Given the description of an element on the screen output the (x, y) to click on. 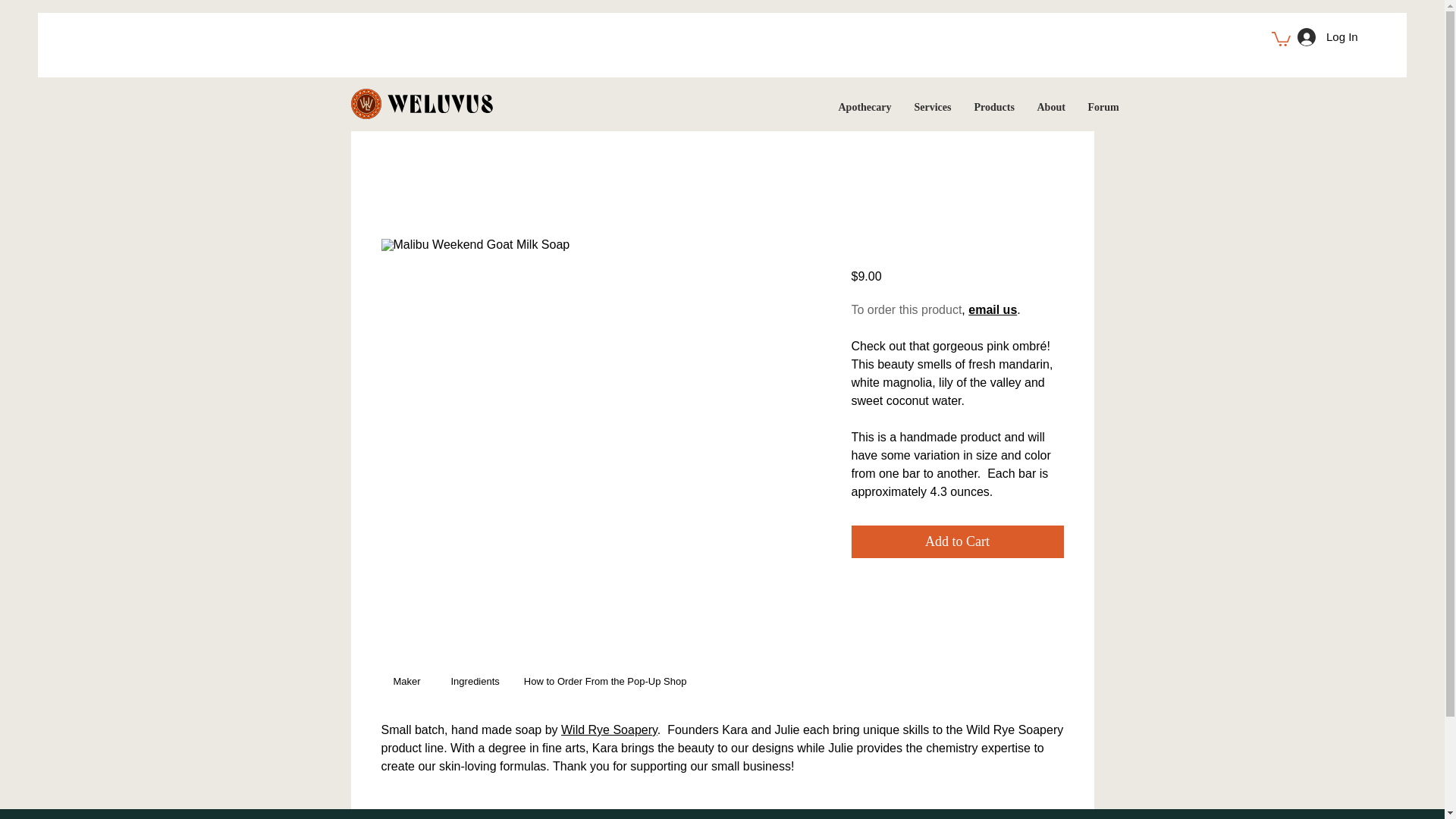
Use right and left arrows to navigate between tabs (605, 683)
Use right and left arrows to navigate between tabs (474, 683)
Services (932, 106)
Use right and left arrows to navigate between tabs (408, 683)
Apothecary (864, 106)
Add to Cart (956, 541)
Wild Rye Soapery (609, 729)
About (1050, 106)
Log In (1327, 36)
email us (992, 309)
Forum (1104, 106)
Products (994, 106)
